Given the description of an element on the screen output the (x, y) to click on. 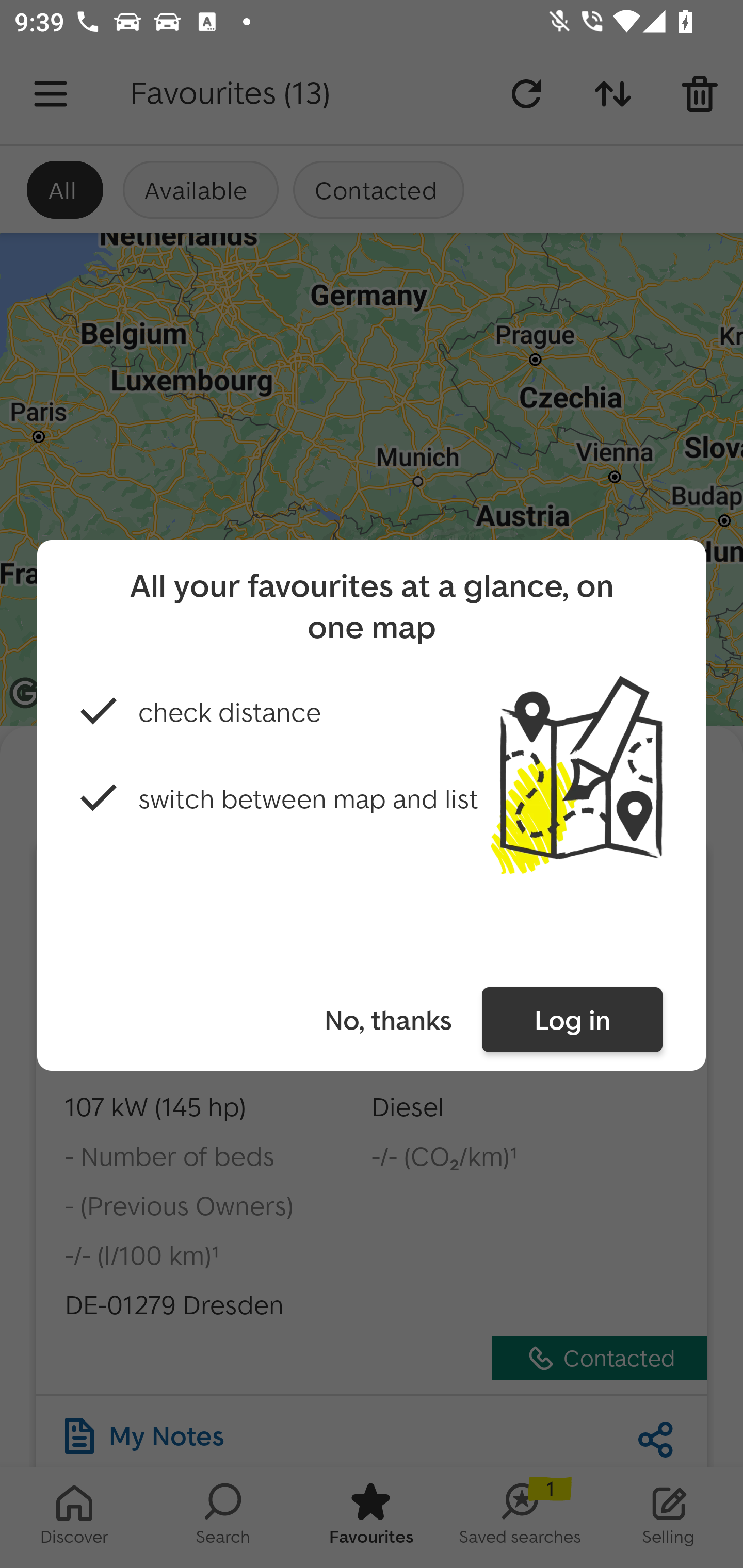
No, thanks (387, 1019)
Log in (572, 1019)
